Given the description of an element on the screen output the (x, y) to click on. 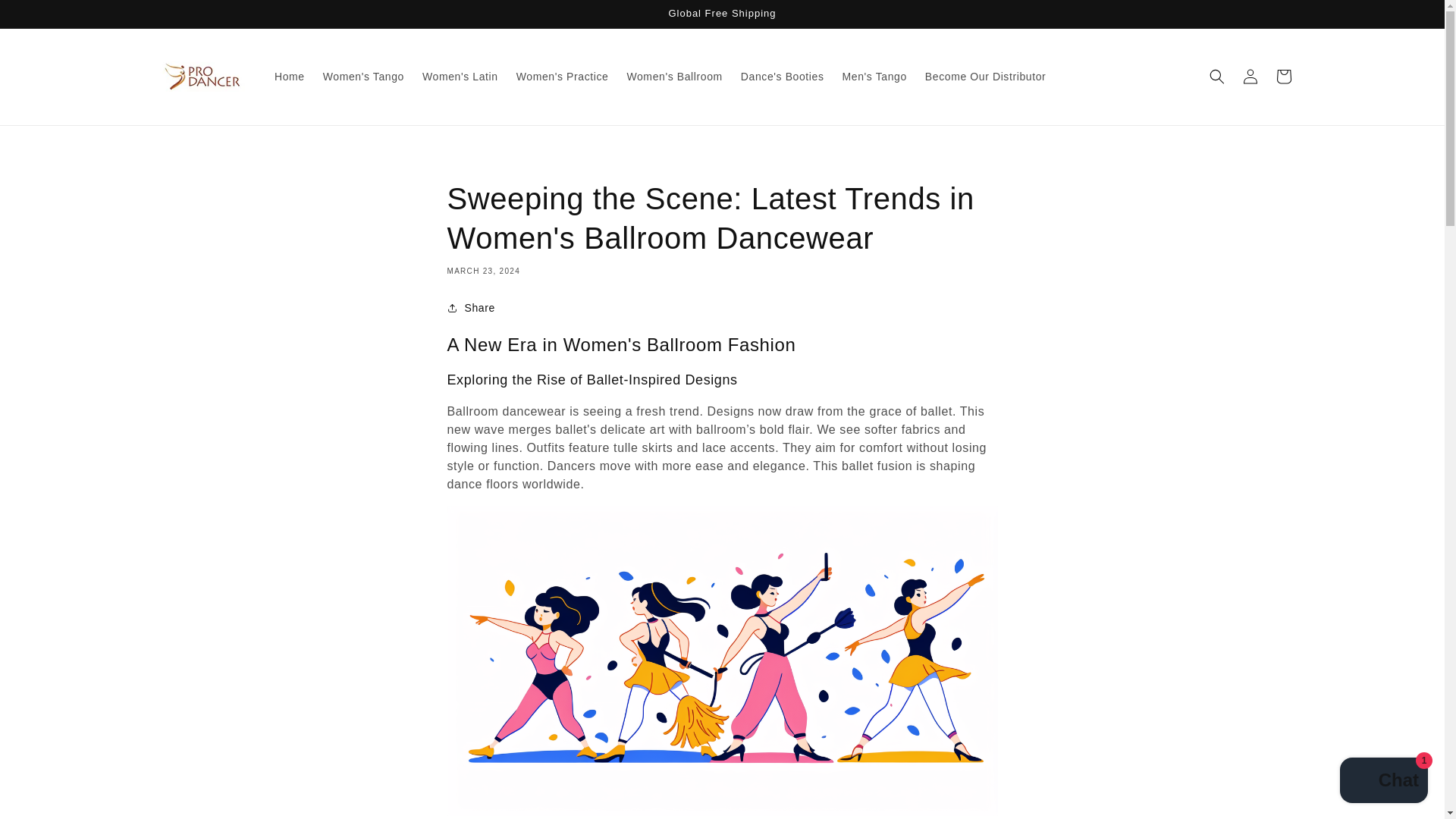
Women's Practice (561, 76)
Women's Ballroom (673, 76)
Log in (1249, 76)
Shopify online store chat (1383, 781)
Women's Tango (363, 76)
Become Our Distributor (984, 76)
Men's Tango (873, 76)
Cart (1283, 76)
Skip to content (45, 16)
Home (289, 76)
Dance's Booties (782, 76)
Women's Latin (459, 76)
